Given the description of an element on the screen output the (x, y) to click on. 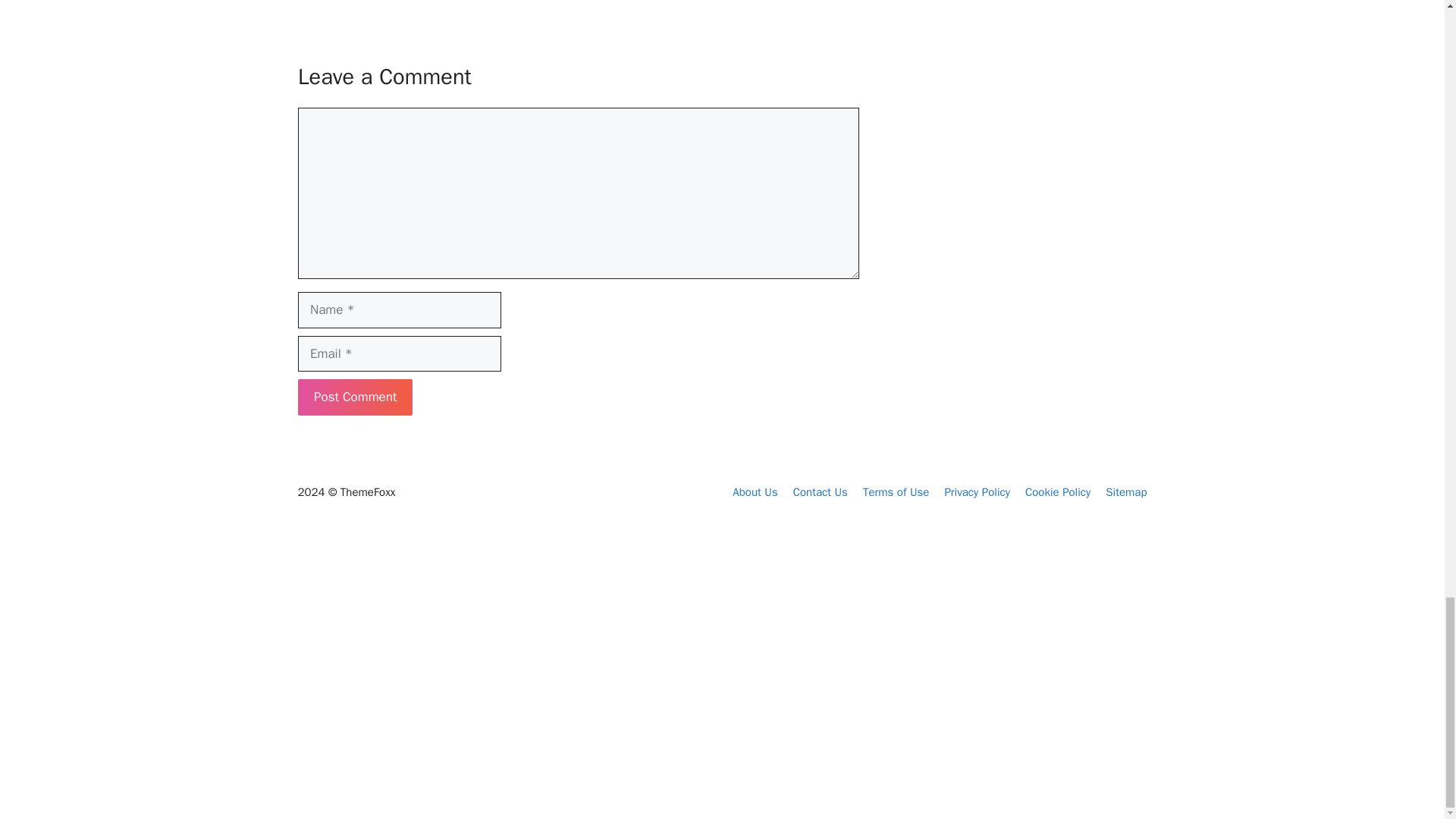
Download iOS 11.2 Stock Wallpapers 9 (546, 657)
Download iPad Pro 2017 Stock Wallpapers 8 (364, 667)
Download iPad Pro 2017 Stock Wallpapers (364, 698)
Download iOS 11.2 Stock Wallpapers (554, 677)
